Given the description of an element on the screen output the (x, y) to click on. 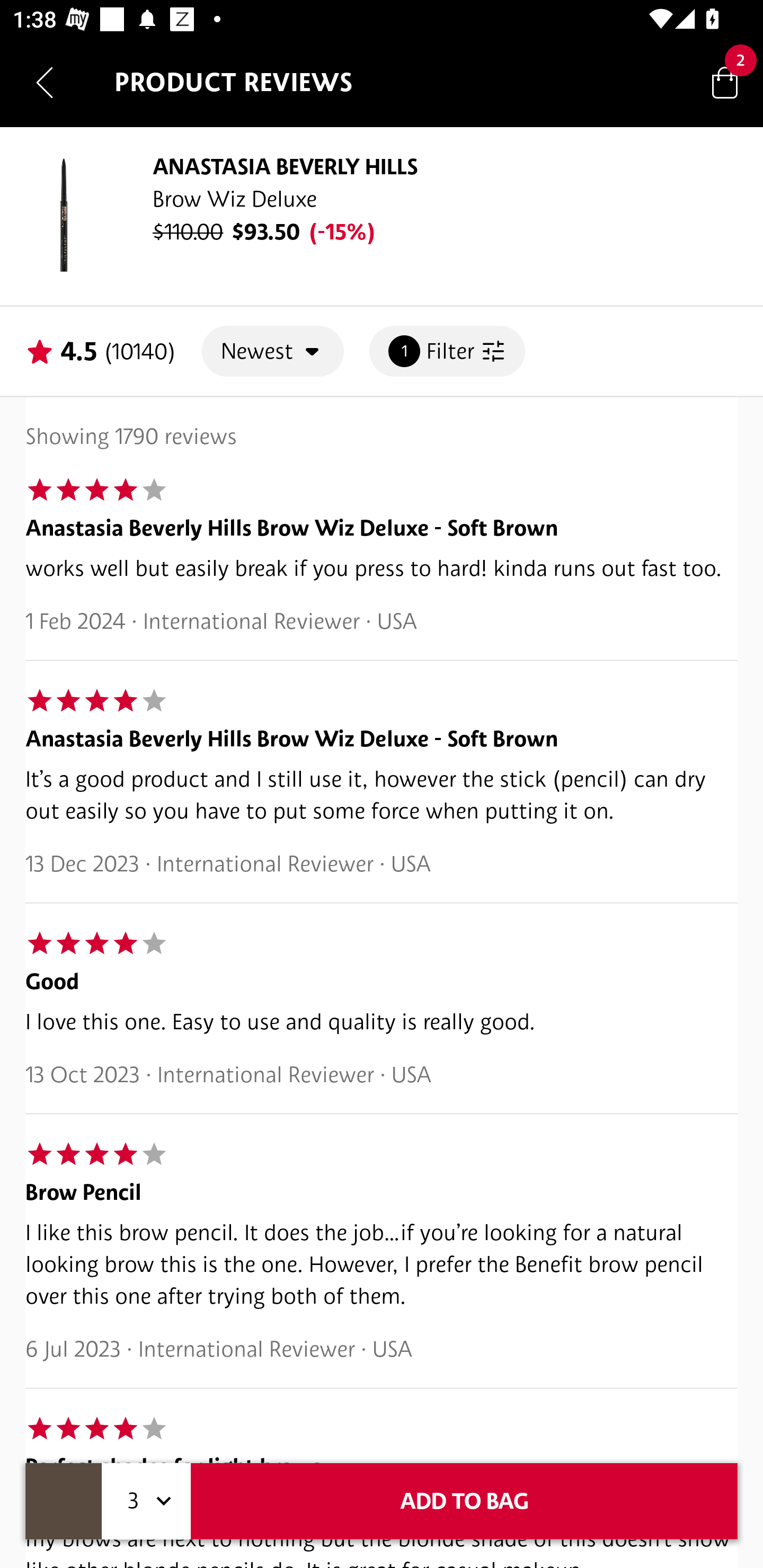
Navigate up (44, 82)
Bag (724, 81)
Newest (273, 351)
1 Filter (446, 351)
3 (145, 1500)
ADD TO BAG (463, 1500)
